Given the description of an element on the screen output the (x, y) to click on. 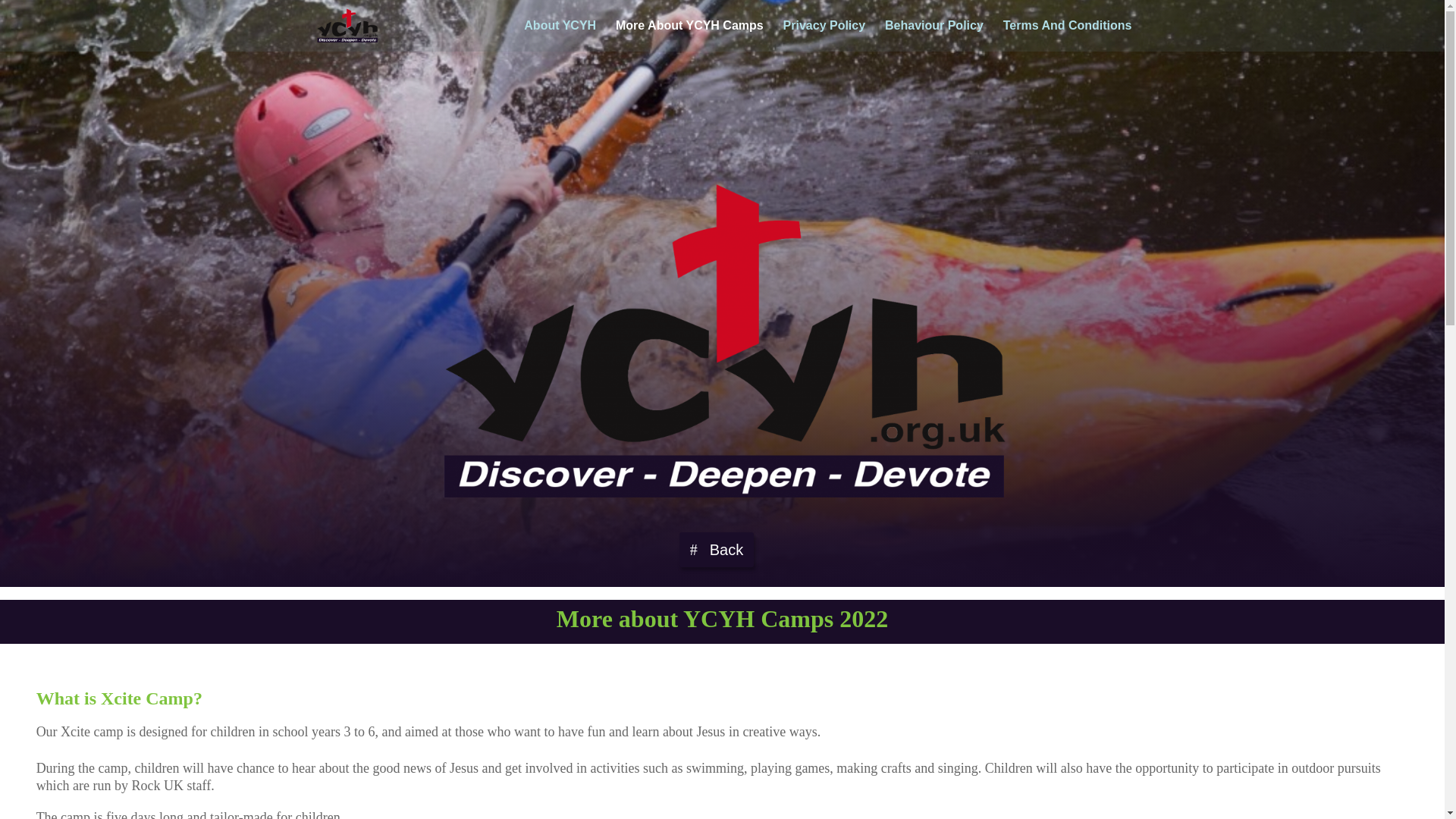
About YCYH (559, 35)
Privacy Policy (824, 35)
Terms And Conditions (1067, 35)
Back (716, 549)
Behaviour Policy (934, 35)
More About YCYH Camps (688, 35)
